Given the description of an element on the screen output the (x, y) to click on. 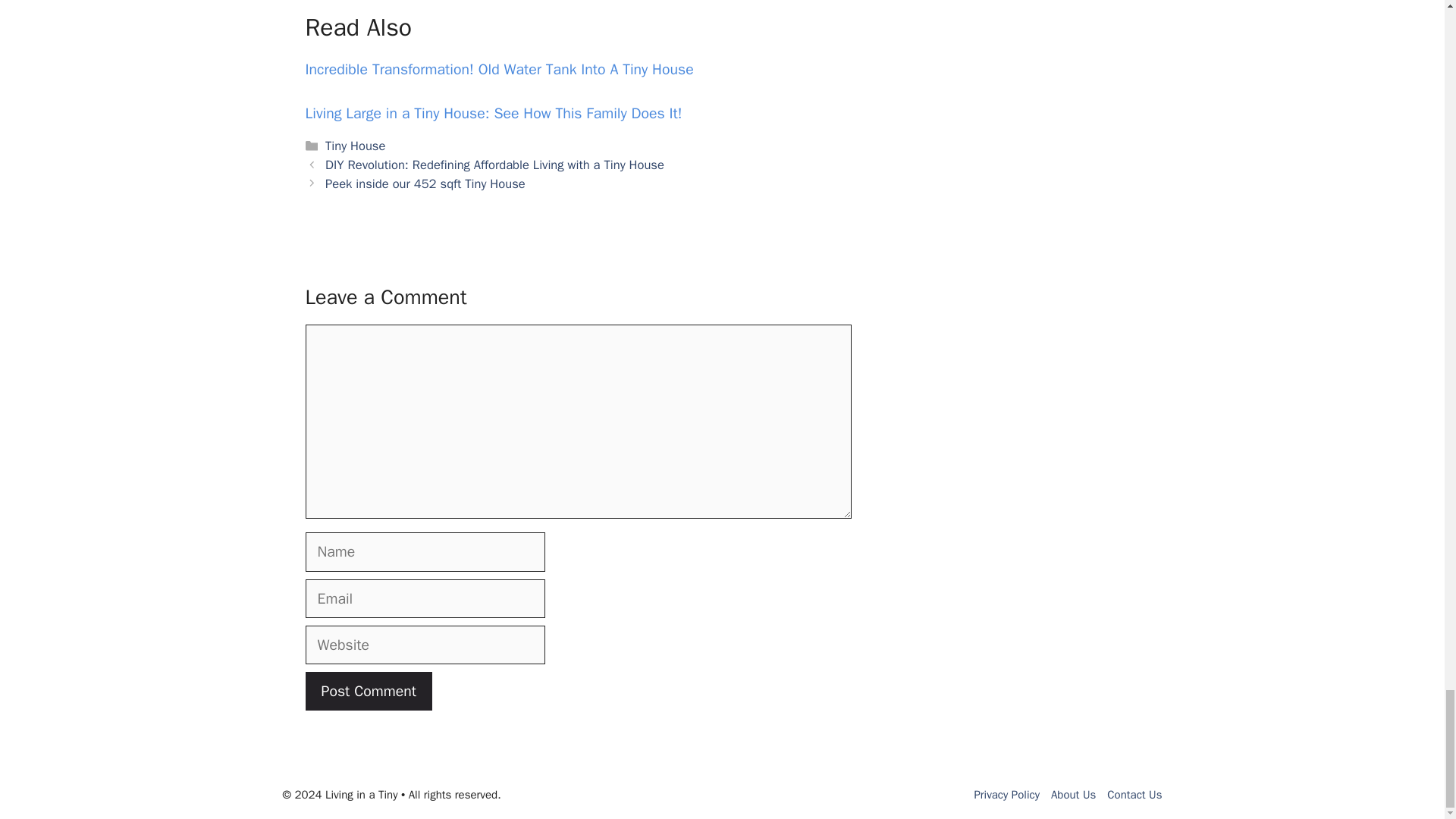
Living Large in a Tiny House: See How This Family Does It! (492, 113)
Post Comment (367, 690)
Tiny House (354, 145)
Peek inside our 452 sqft Tiny House (424, 183)
Incredible Transformation! Old Water Tank Into A Tiny House (498, 68)
Privacy Policy (1006, 794)
Post Comment (367, 690)
